Given the description of an element on the screen output the (x, y) to click on. 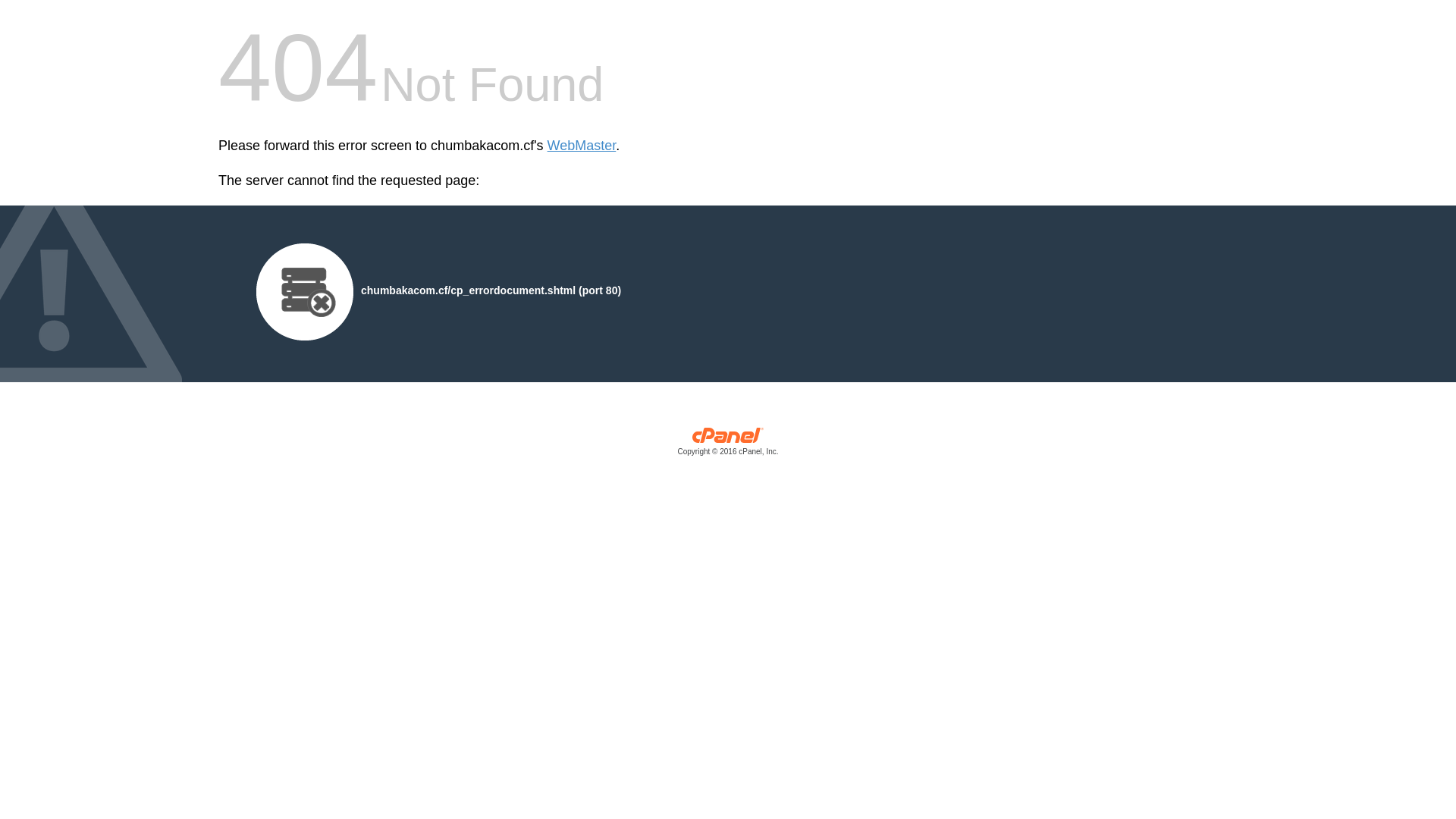
WebMaster Element type: text (581, 145)
